Given the description of an element on the screen output the (x, y) to click on. 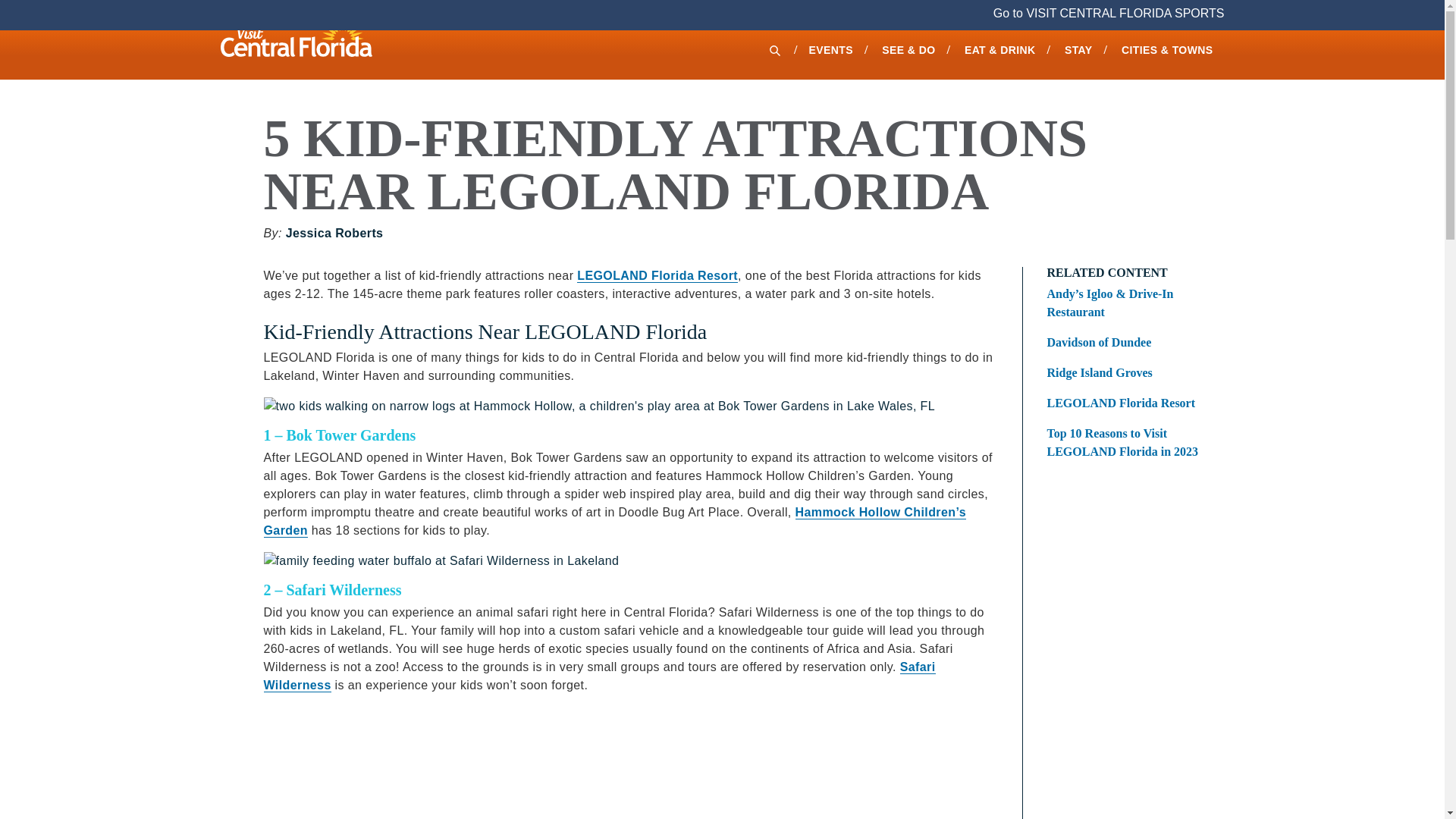
EVENTS (829, 48)
Davidson of Dundee (1128, 342)
Top 10 Reasons to Visit LEGOLAND Florida in 2023 (1128, 443)
submit (7, 8)
SEARCH (772, 48)
LEGOLAND Florida Resort (657, 275)
STAY (1077, 48)
Go to VISIT CENTRAL FLORIDA SPORTS (1108, 12)
vimeo-player (506, 762)
Skip to content (40, 9)
Ridge Island Groves (1128, 372)
Safari Wilderness (599, 676)
TRAVEL GUIDE (1114, 22)
WELCOME CENTER (826, 22)
BLOG (1198, 22)
